Given the description of an element on the screen output the (x, y) to click on. 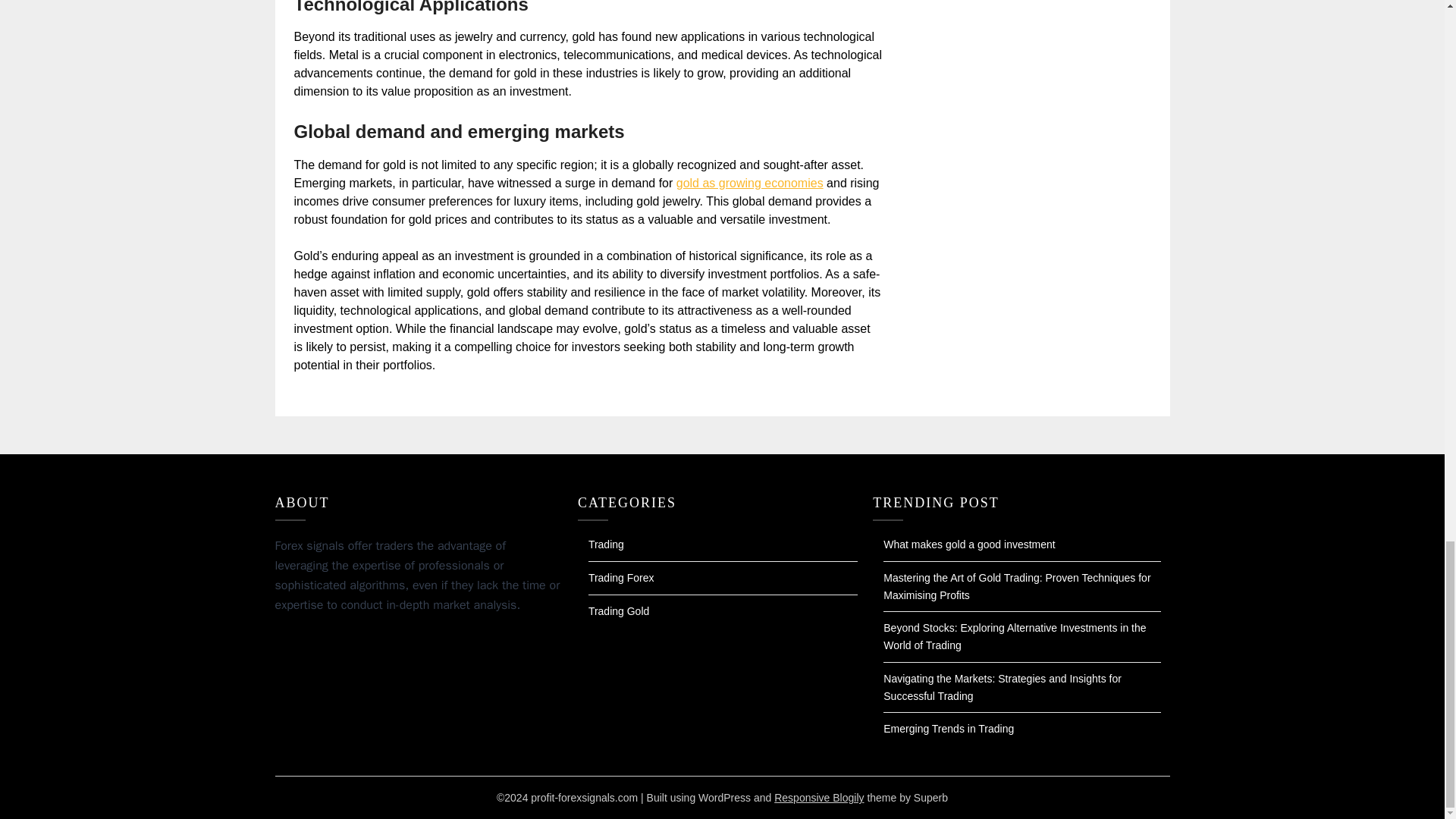
gold as growing economies (750, 182)
Trading Gold (618, 611)
Responsive Blogily (818, 797)
Trading Forex (620, 577)
What makes gold a good investment (968, 544)
Emerging Trends in Trading (948, 728)
Trading (606, 544)
